Given the description of an element on the screen output the (x, y) to click on. 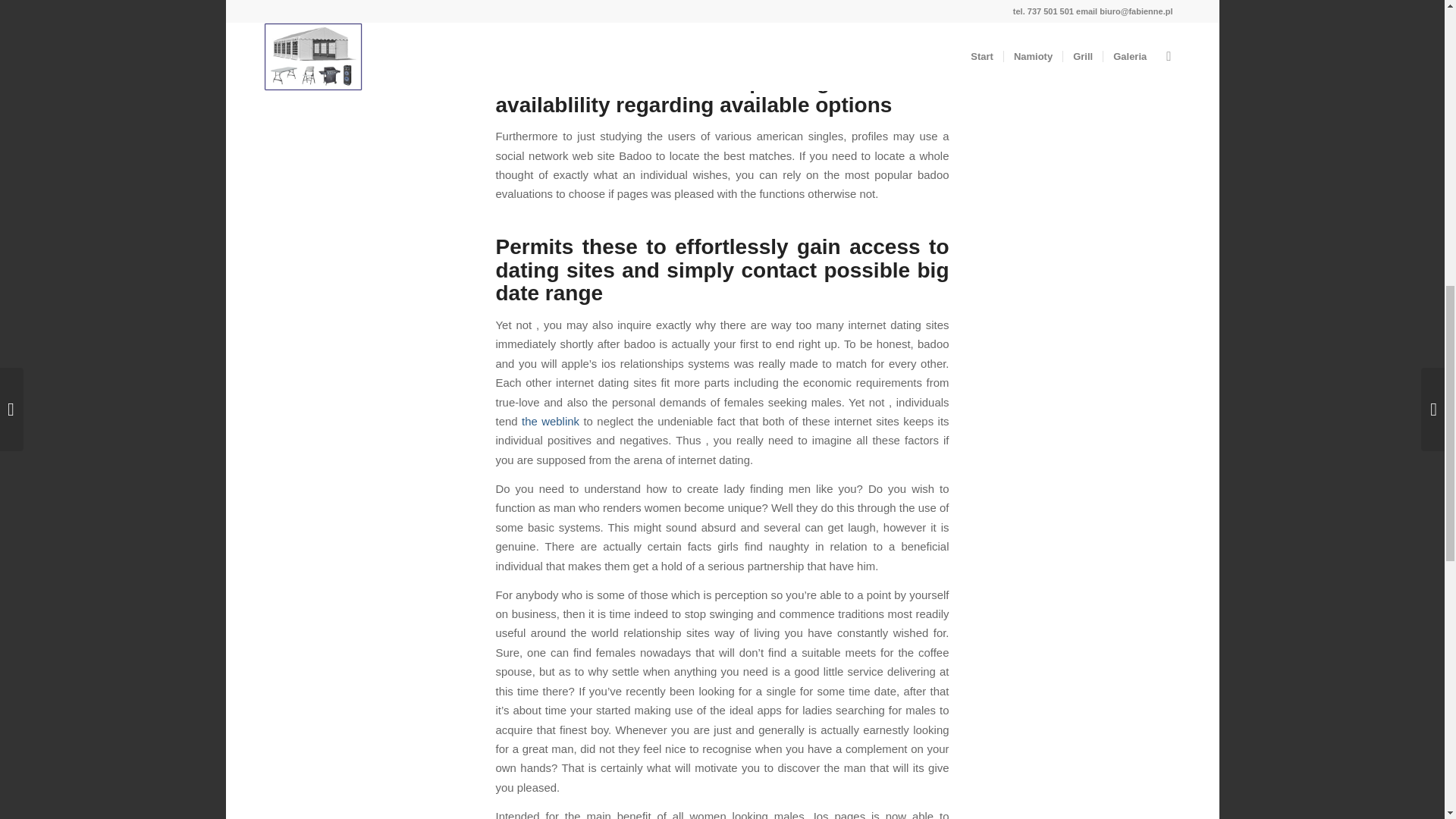
the weblink (550, 420)
